Given the description of an element on the screen output the (x, y) to click on. 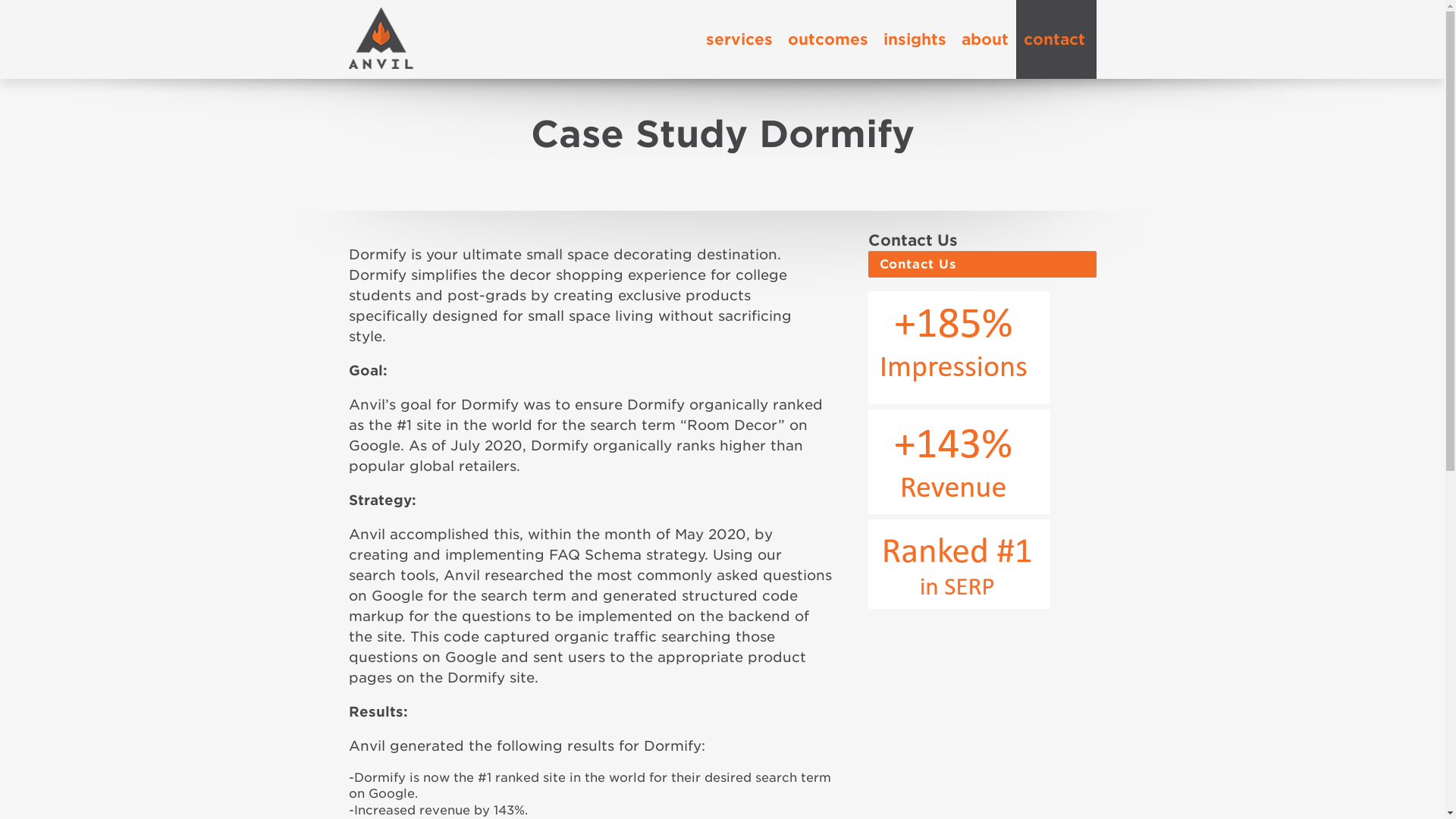
services (737, 39)
outcomes (826, 39)
insights (914, 39)
Contact Us (981, 263)
